Given the description of an element on the screen output the (x, y) to click on. 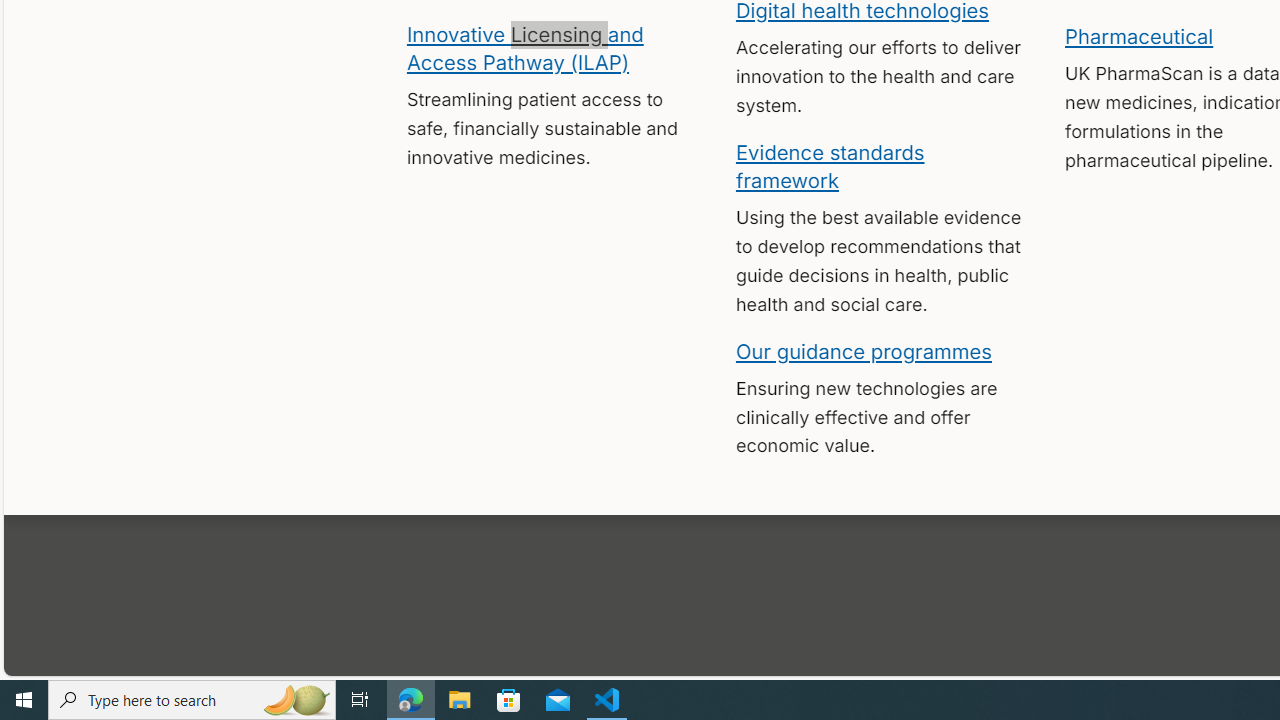
Pharmaceutical (1138, 35)
Innovative Licensing and Access Pathway (ILAP) (524, 47)
Evidence standards framework (829, 165)
Our guidance programmes (863, 350)
